Given the description of an element on the screen output the (x, y) to click on. 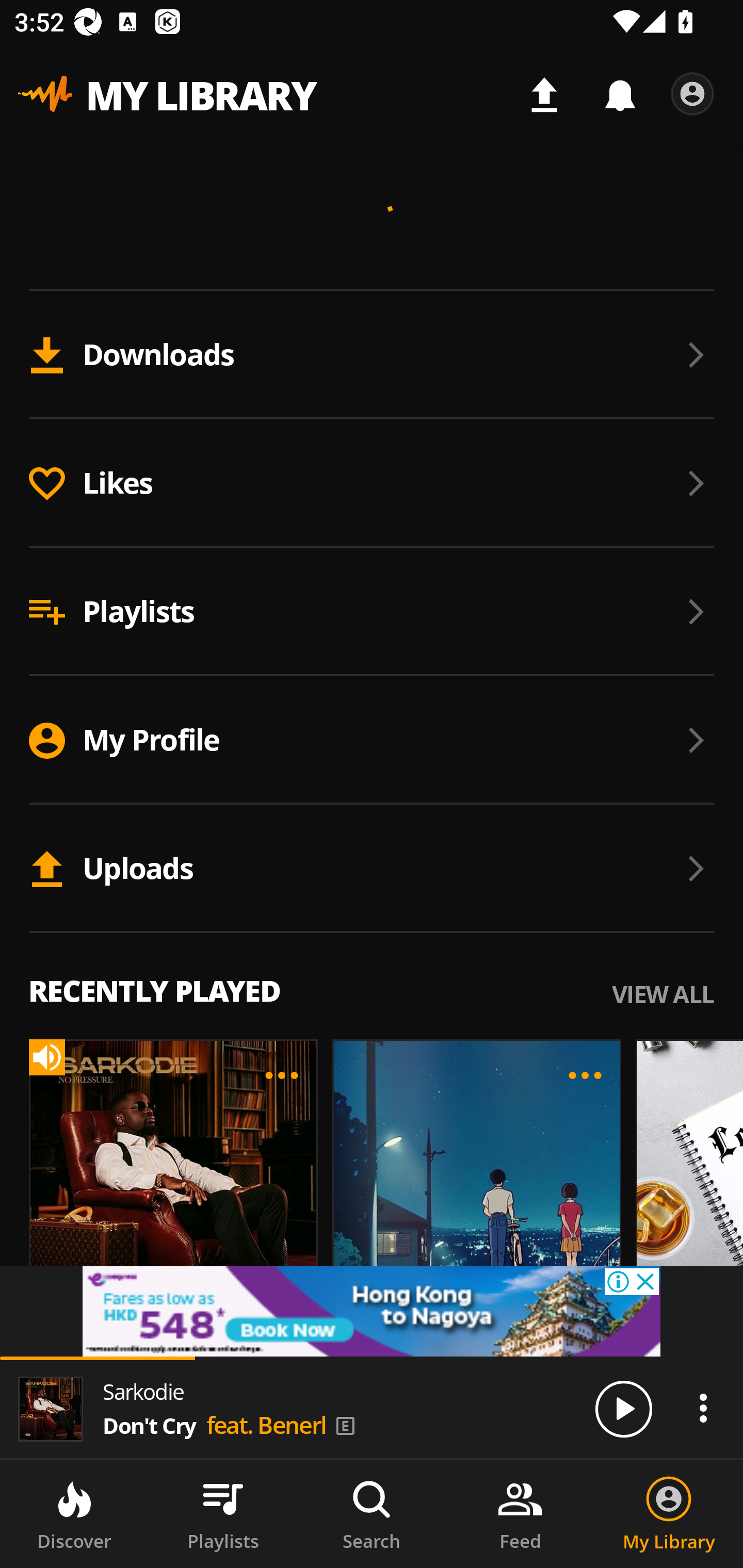
Settings (692, 94)
Downloads (371, 354)
Likes (371, 482)
Playlists (371, 611)
My Profile (371, 739)
Uploads (371, 868)
VIEW ALL (663, 992)
Song artwork EDIT HIGHLIGHTS Sarkodie (166, 1190)
Song artwork EDIT HIGHLIGHTS m.afifadli (469, 1190)
EDIT HIGHLIGHTS (281, 1075)
EDIT HIGHLIGHTS (585, 1075)
Advertisement (371, 1311)
Actions (703, 1407)
Play/Pause (623, 1408)
Discover (74, 1513)
Playlists (222, 1513)
Search (371, 1513)
Feed (519, 1513)
My Library (668, 1513)
